Given the description of an element on the screen output the (x, y) to click on. 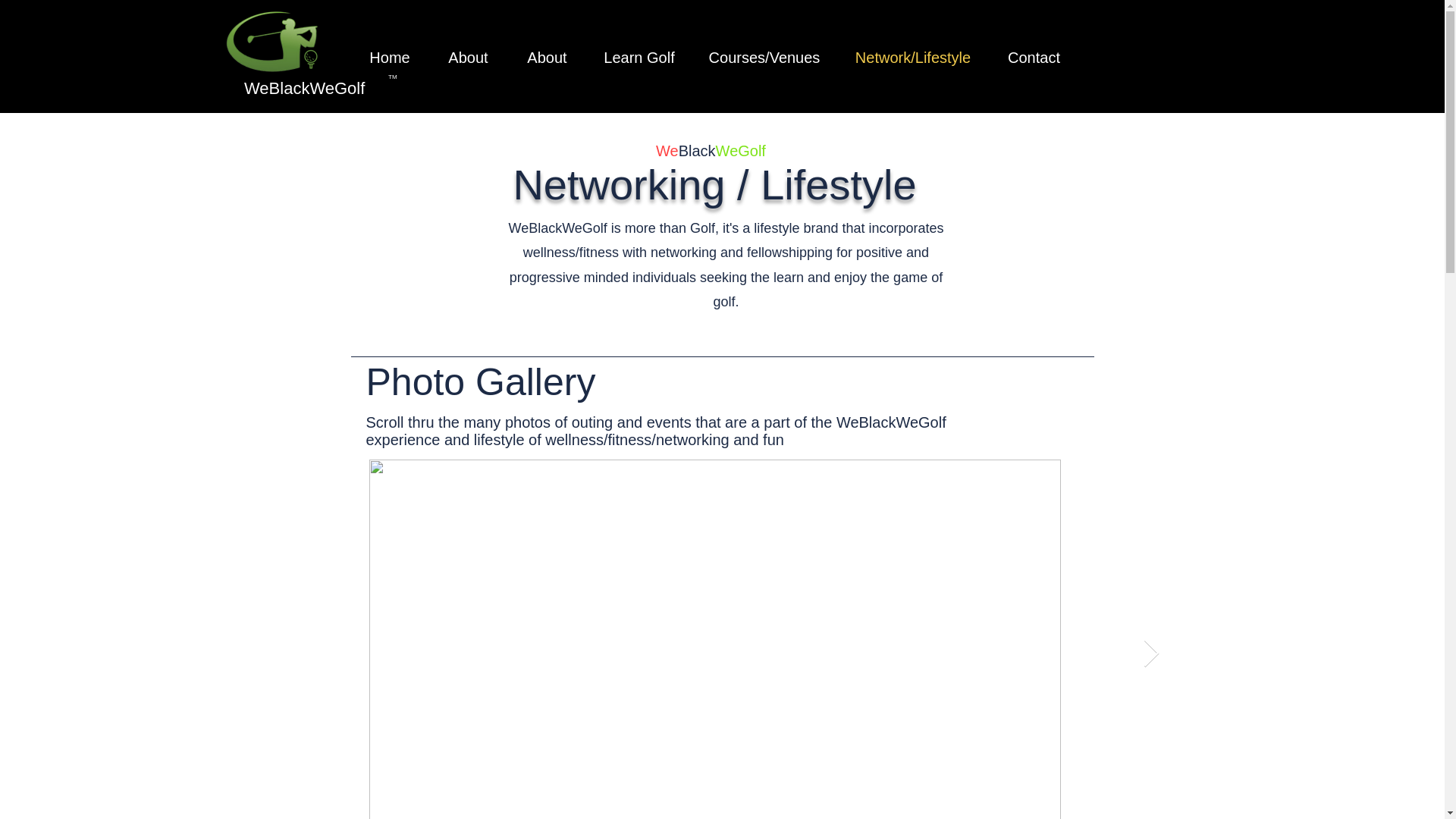
Home (389, 57)
About (468, 57)
Contact (1033, 57)
About (547, 57)
WeBlackWeGolf (304, 87)
Learn Golf (639, 57)
